Given the description of an element on the screen output the (x, y) to click on. 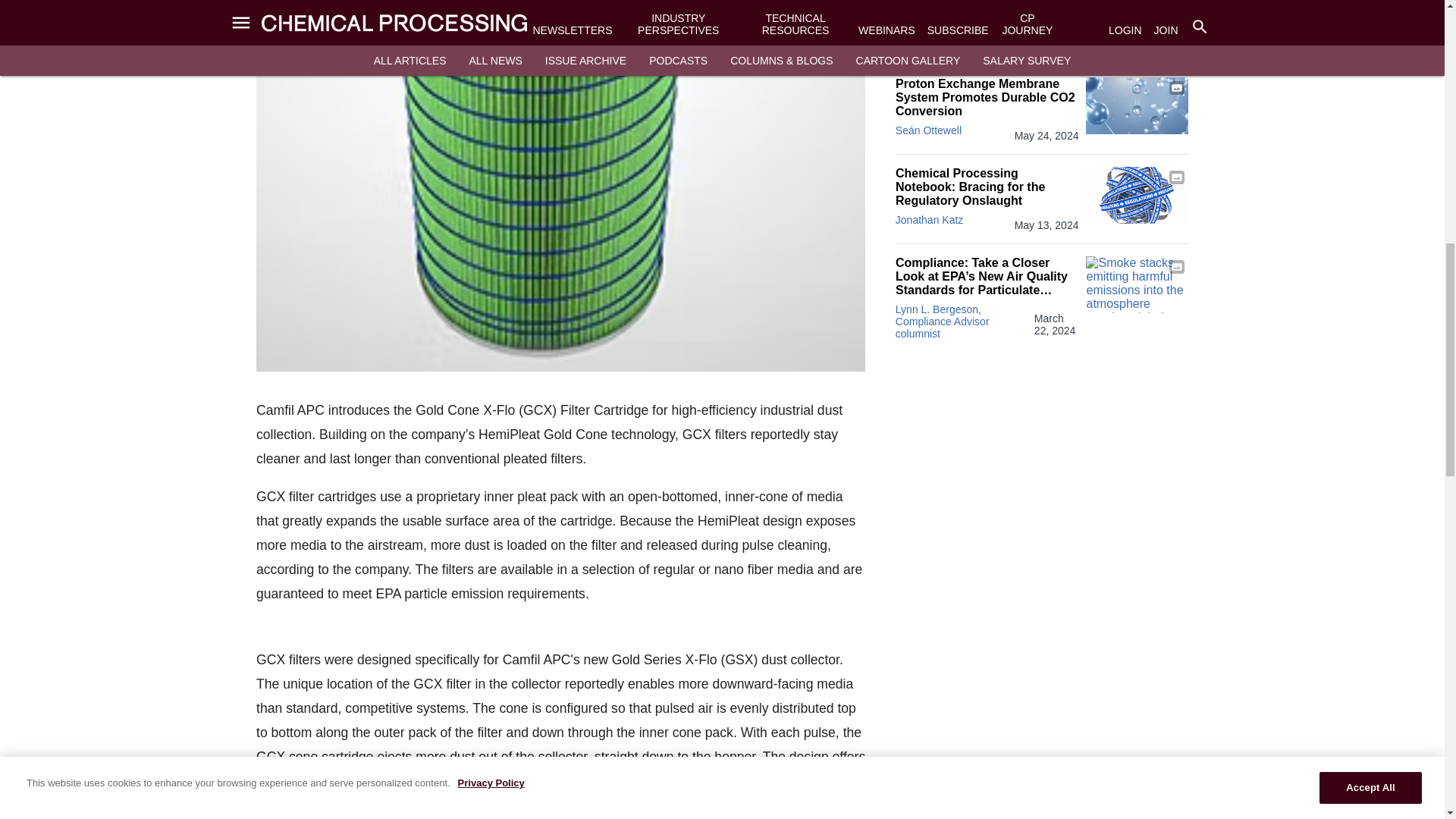
Regulations (1137, 195)
formic acid molecular structure  (1137, 105)
